Given the description of an element on the screen output the (x, y) to click on. 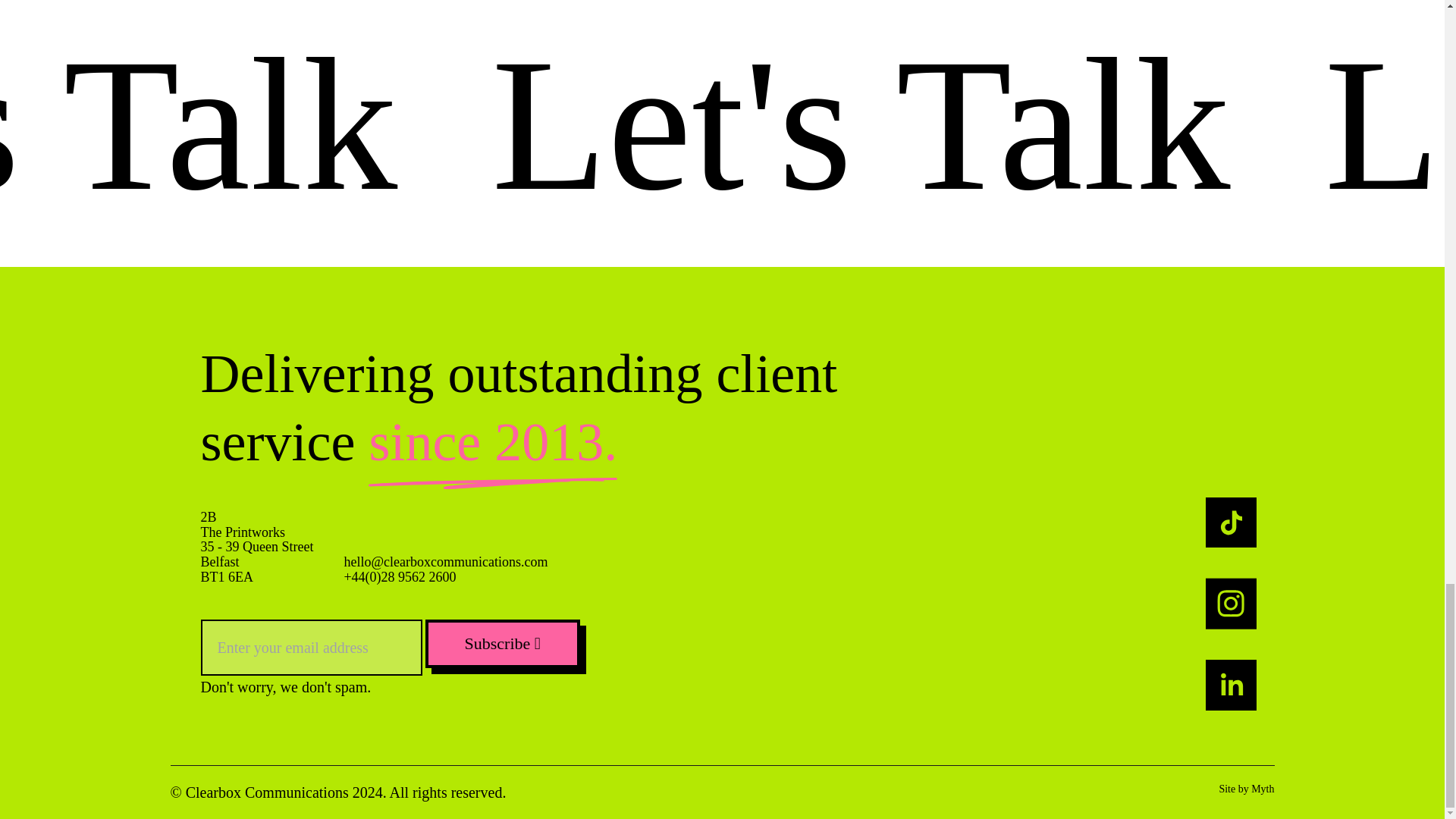
Myth (1262, 788)
